Given the description of an element on the screen output the (x, y) to click on. 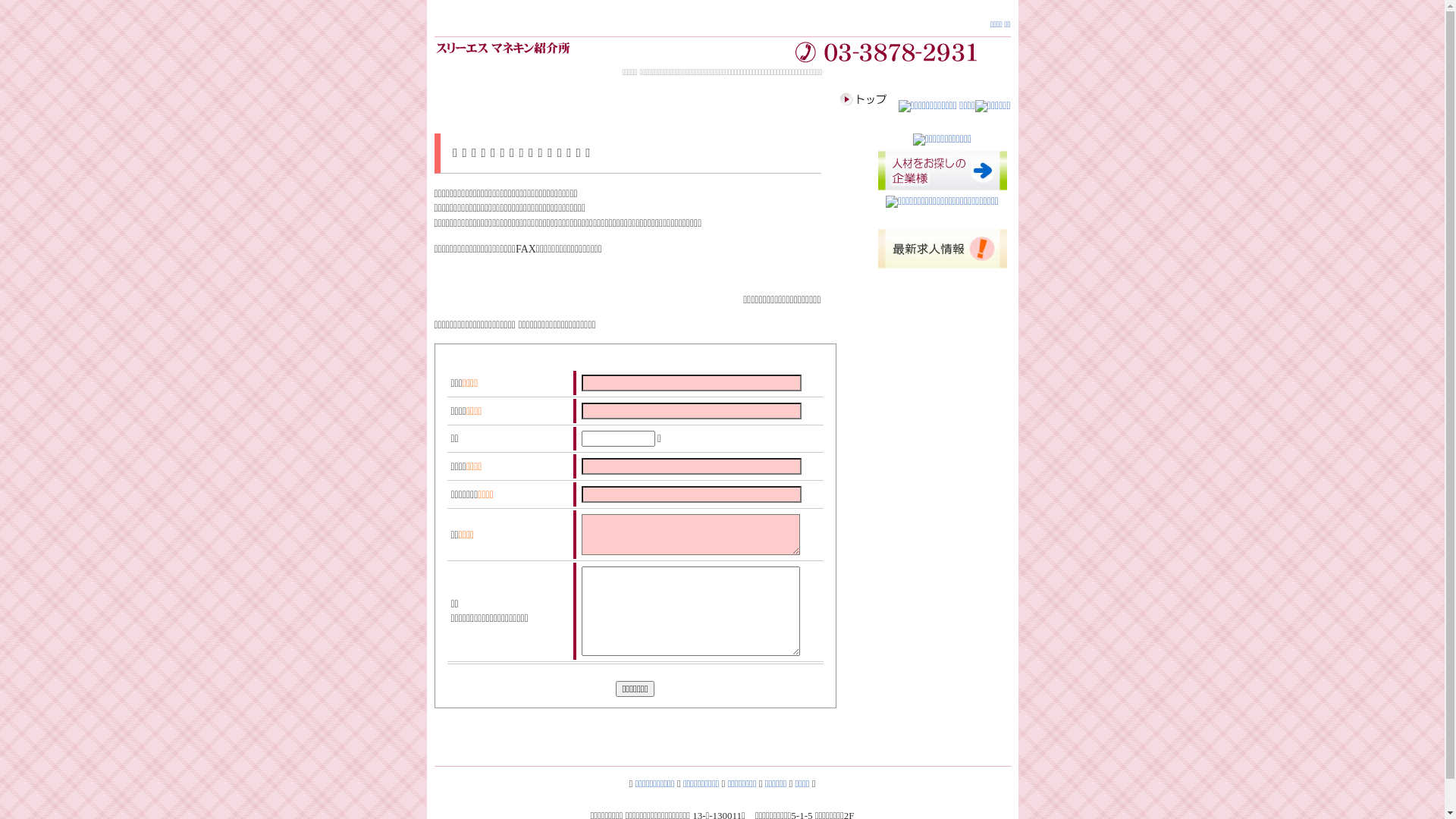
  Element type: text (446, 361)
